Given the description of an element on the screen output the (x, y) to click on. 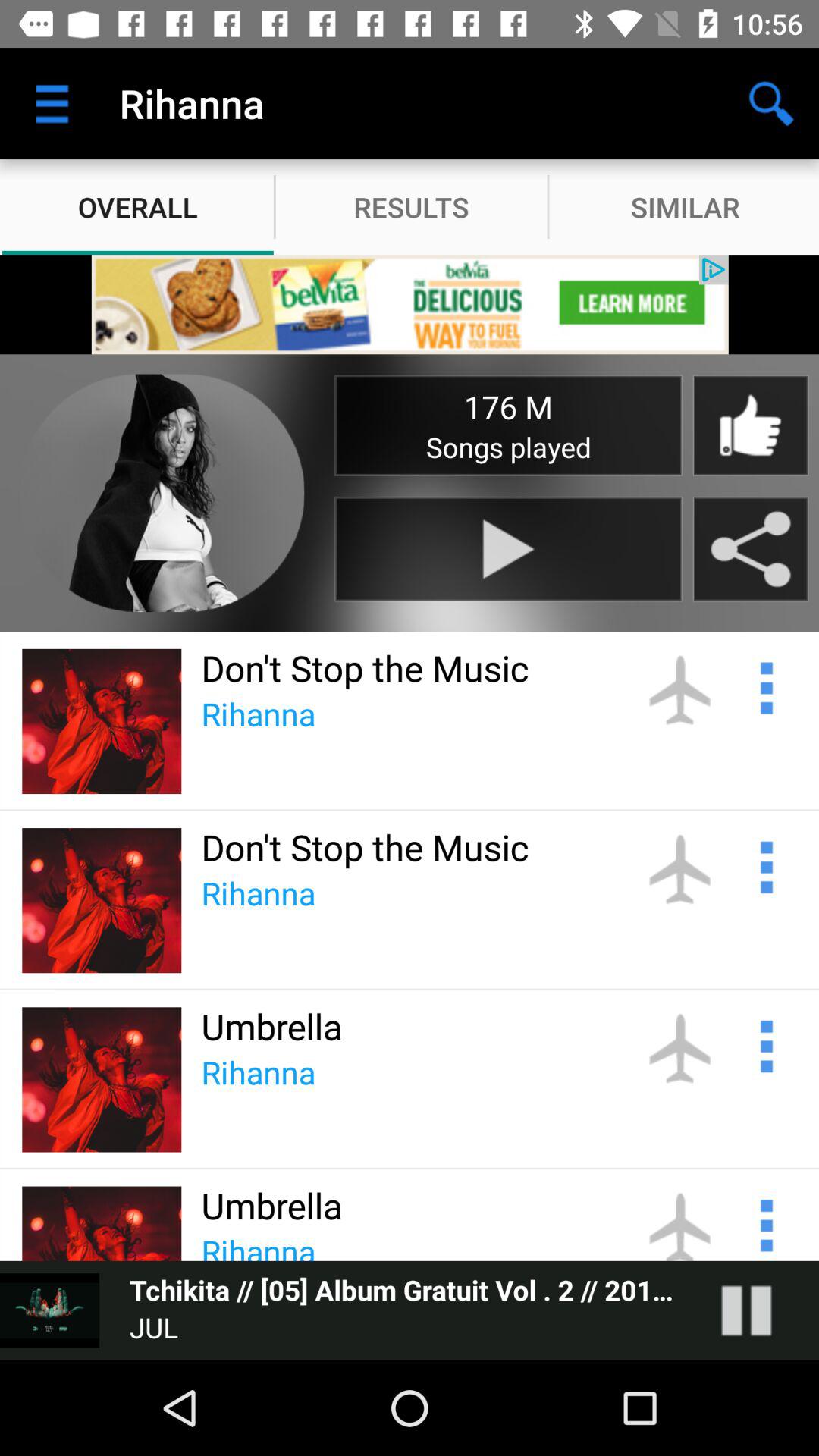
share (750, 548)
